Given the description of an element on the screen output the (x, y) to click on. 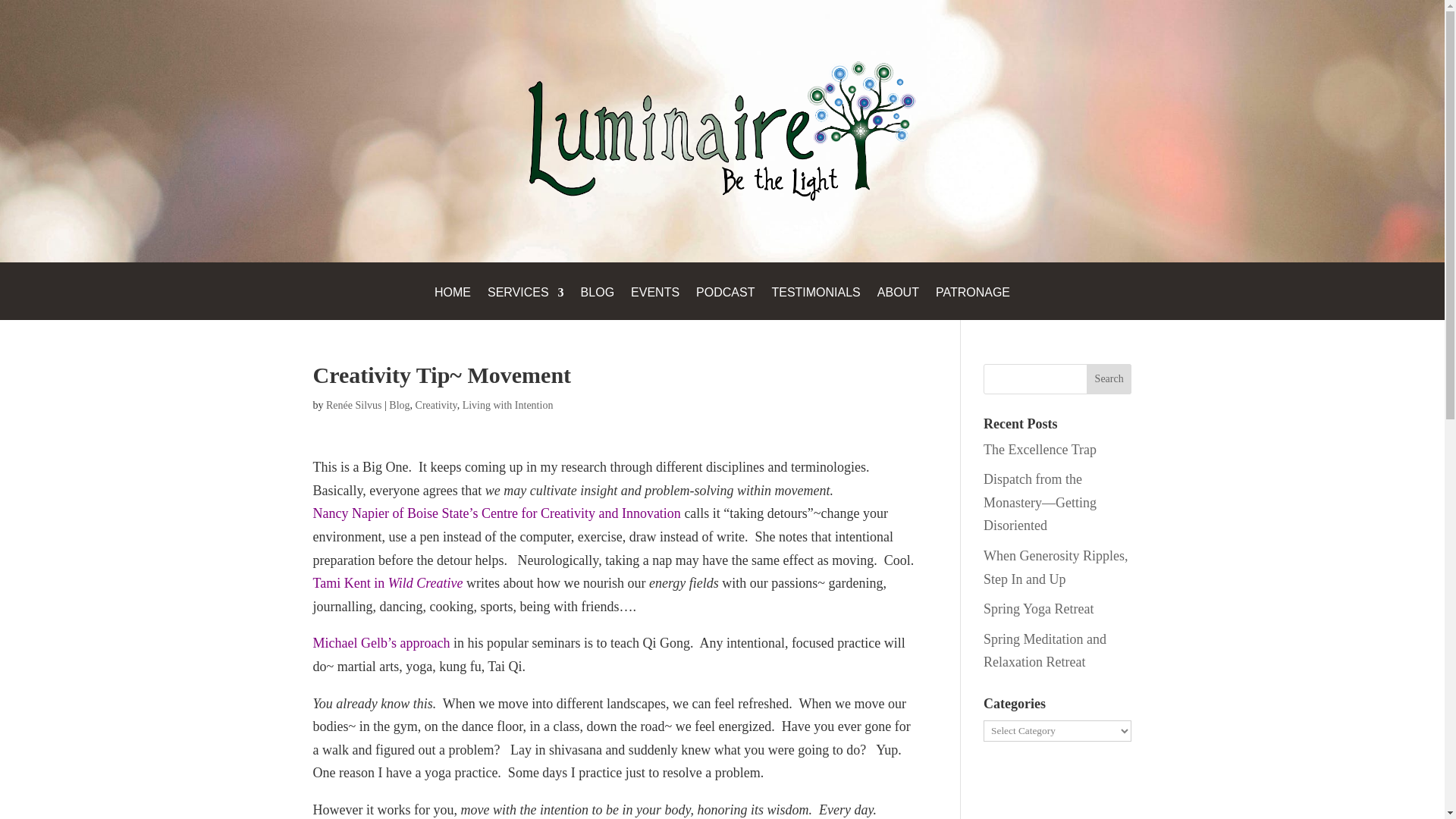
Spring Meditation and Relaxation Retreat (1045, 650)
ABOUT (897, 303)
Spring Yoga Retreat (1039, 608)
SERVICES (525, 303)
EVENTS (654, 303)
Creativity (435, 405)
Tami Kent in Wild Creative (388, 582)
The Excellence Trap (1040, 449)
Search (1109, 378)
HOME (451, 303)
